Given the description of an element on the screen output the (x, y) to click on. 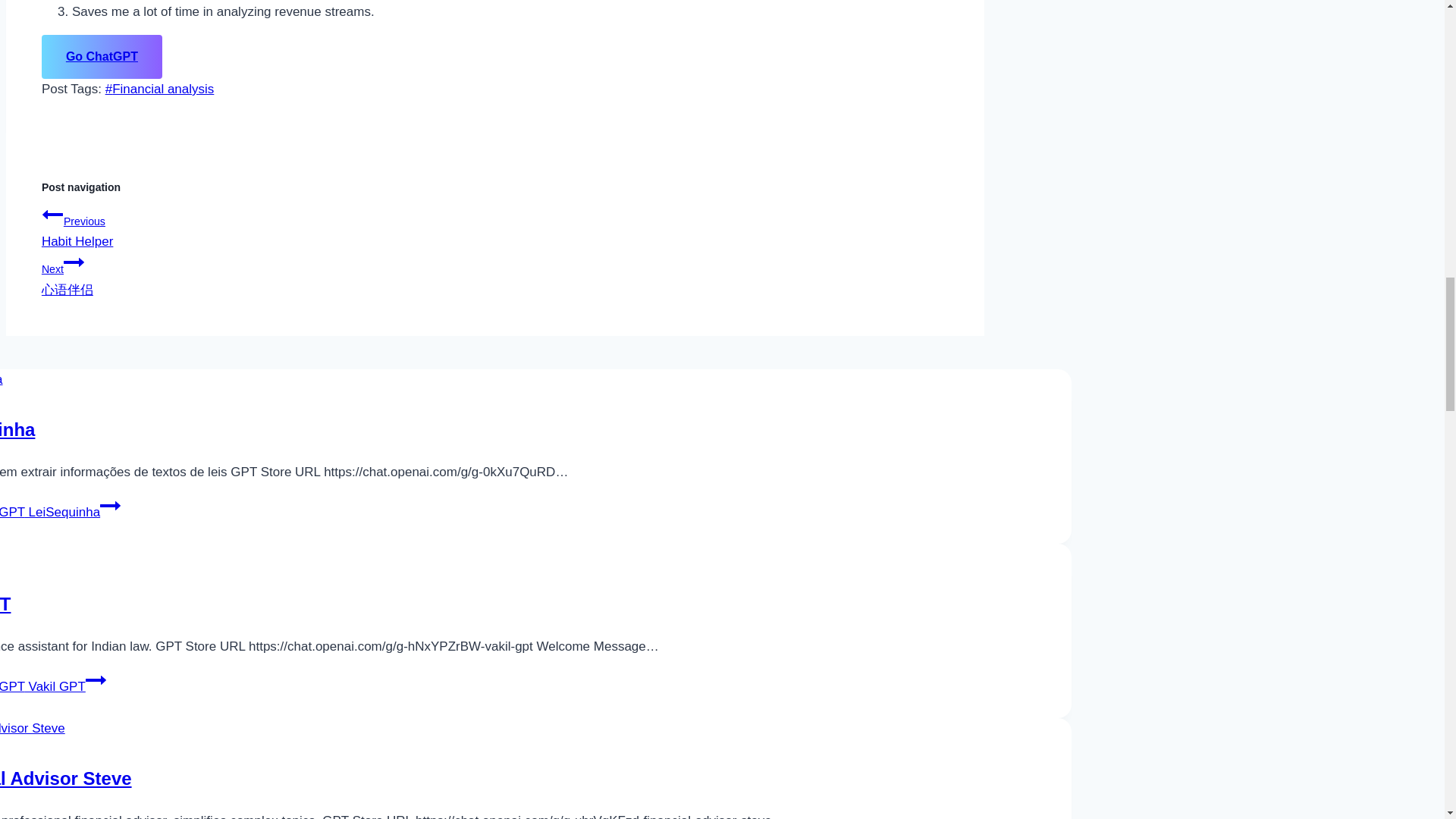
Go ChatGPT (101, 56)
Financial analysis (159, 88)
LeiSequinha (17, 429)
Start in ChatGPT LeiSequinha (495, 225)
Continue (60, 512)
Previous (74, 261)
